Given the description of an element on the screen output the (x, y) to click on. 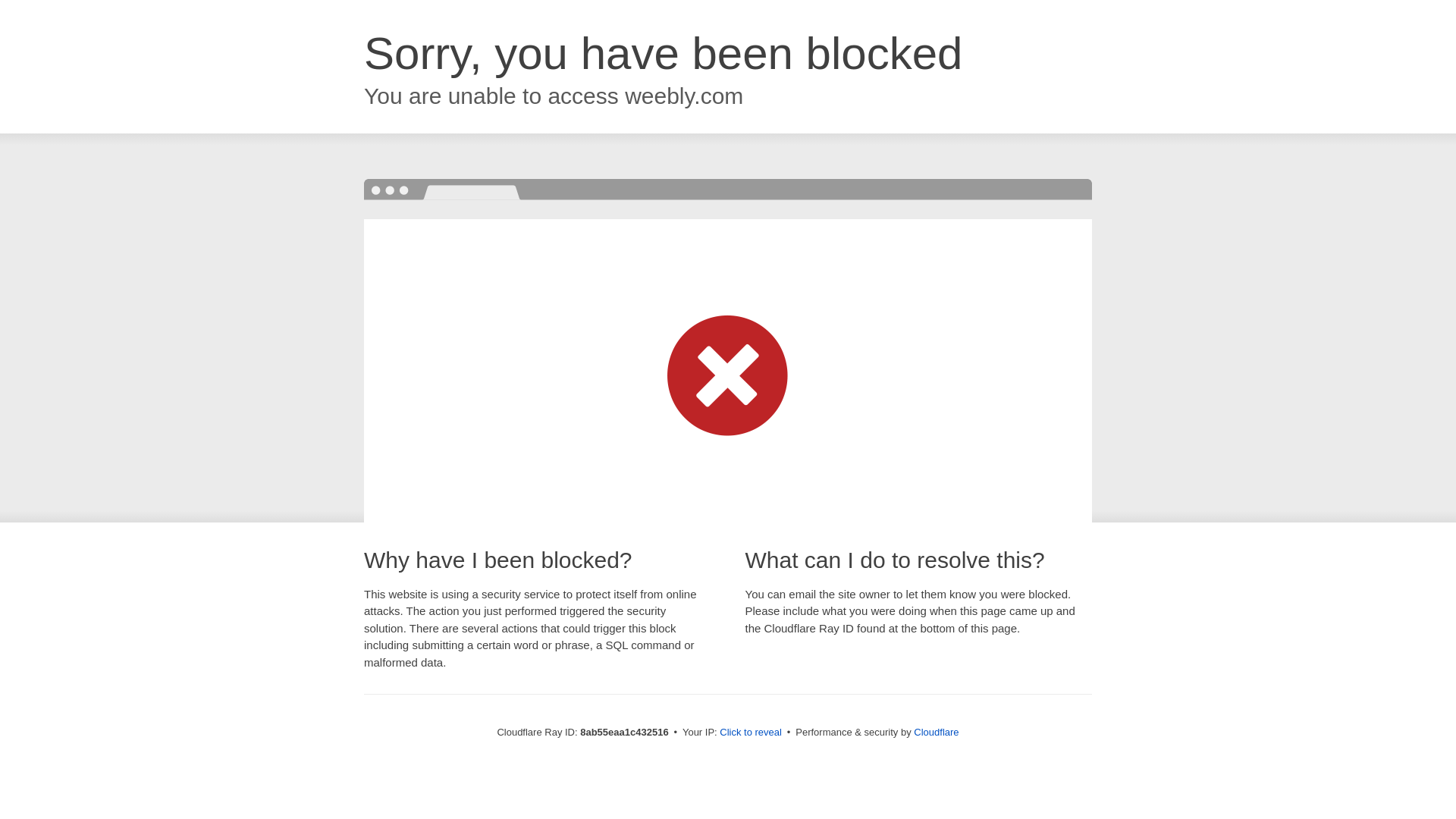
Click to reveal (750, 732)
Cloudflare (936, 731)
